Given the description of an element on the screen output the (x, y) to click on. 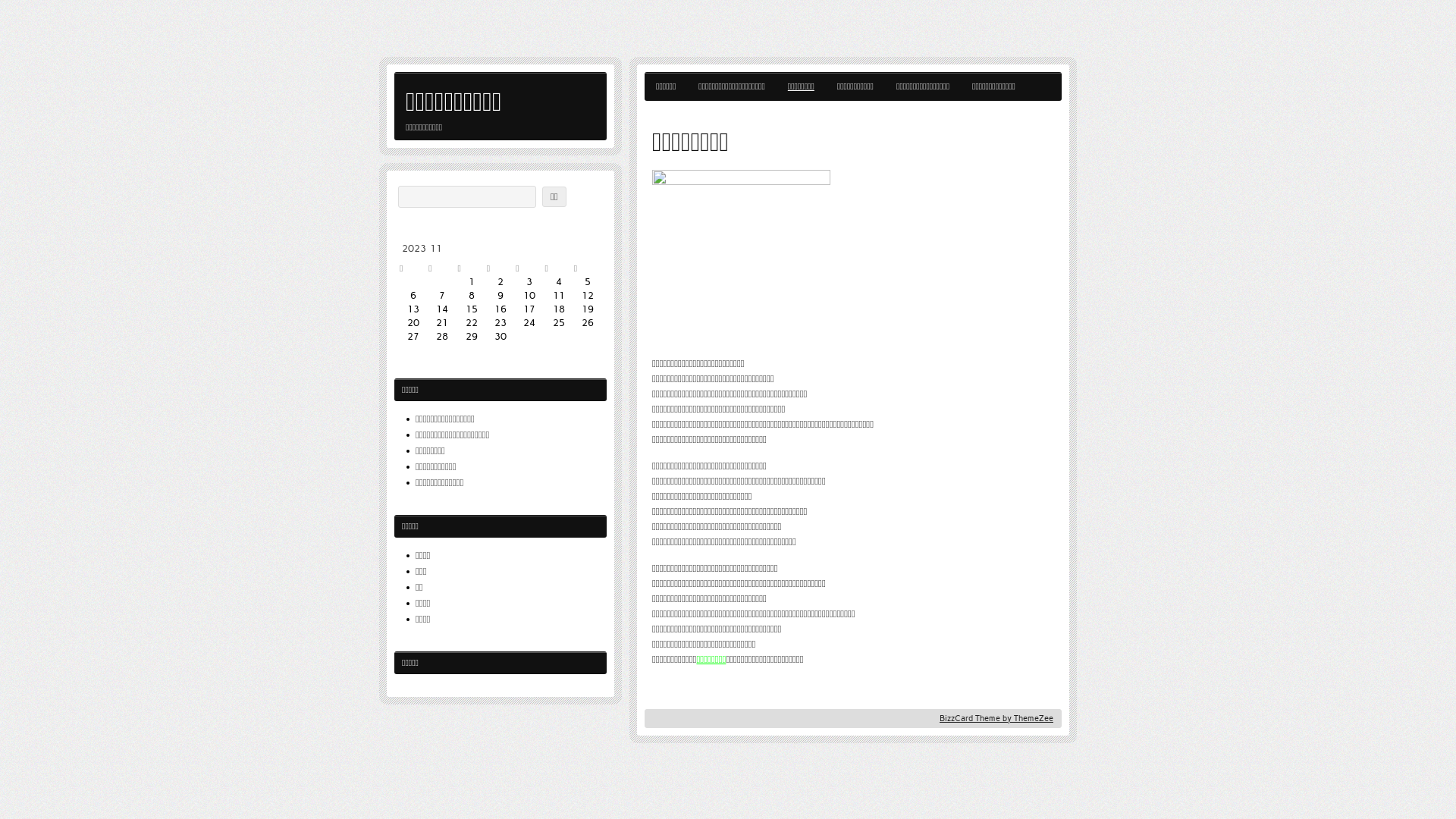
BizzCard Theme by ThemeZee Element type: text (996, 718)
